Given the description of an element on the screen output the (x, y) to click on. 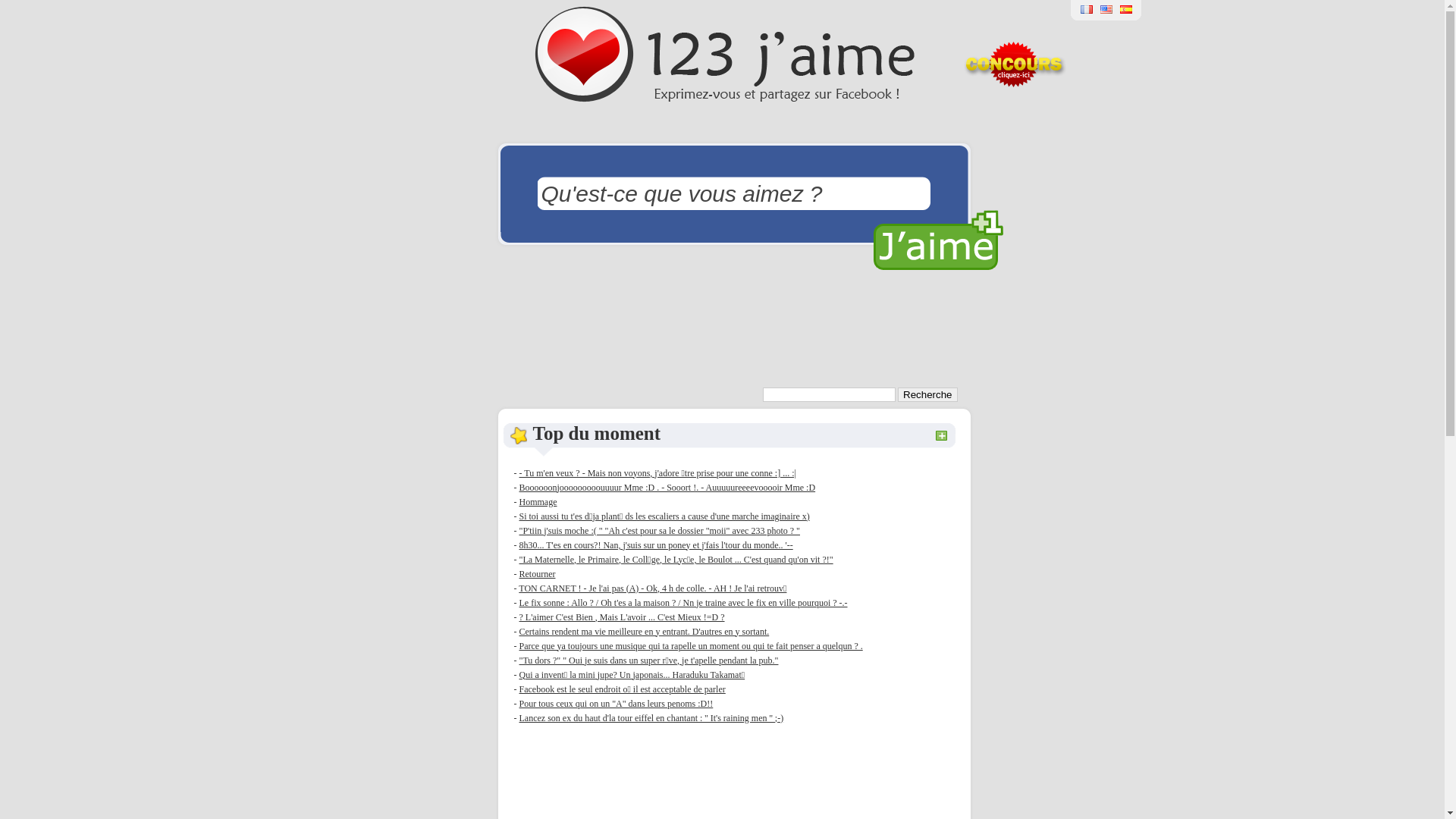
Hommage Element type: text (537, 500)
Recherche Element type: text (927, 394)
123 Gusta Element type: hover (1125, 14)
Retourner Element type: text (536, 573)
? L'aimer C'est Bien , Mais L'avoir ... C'est Mieux !=D ? Element type: text (621, 616)
Advertisement Element type: hover (732, 330)
123 Like.com Element type: hover (1106, 14)
Pour tous ceux qui on un "A" dans leurs penoms :D!! Element type: text (615, 702)
